Given the description of an element on the screen output the (x, y) to click on. 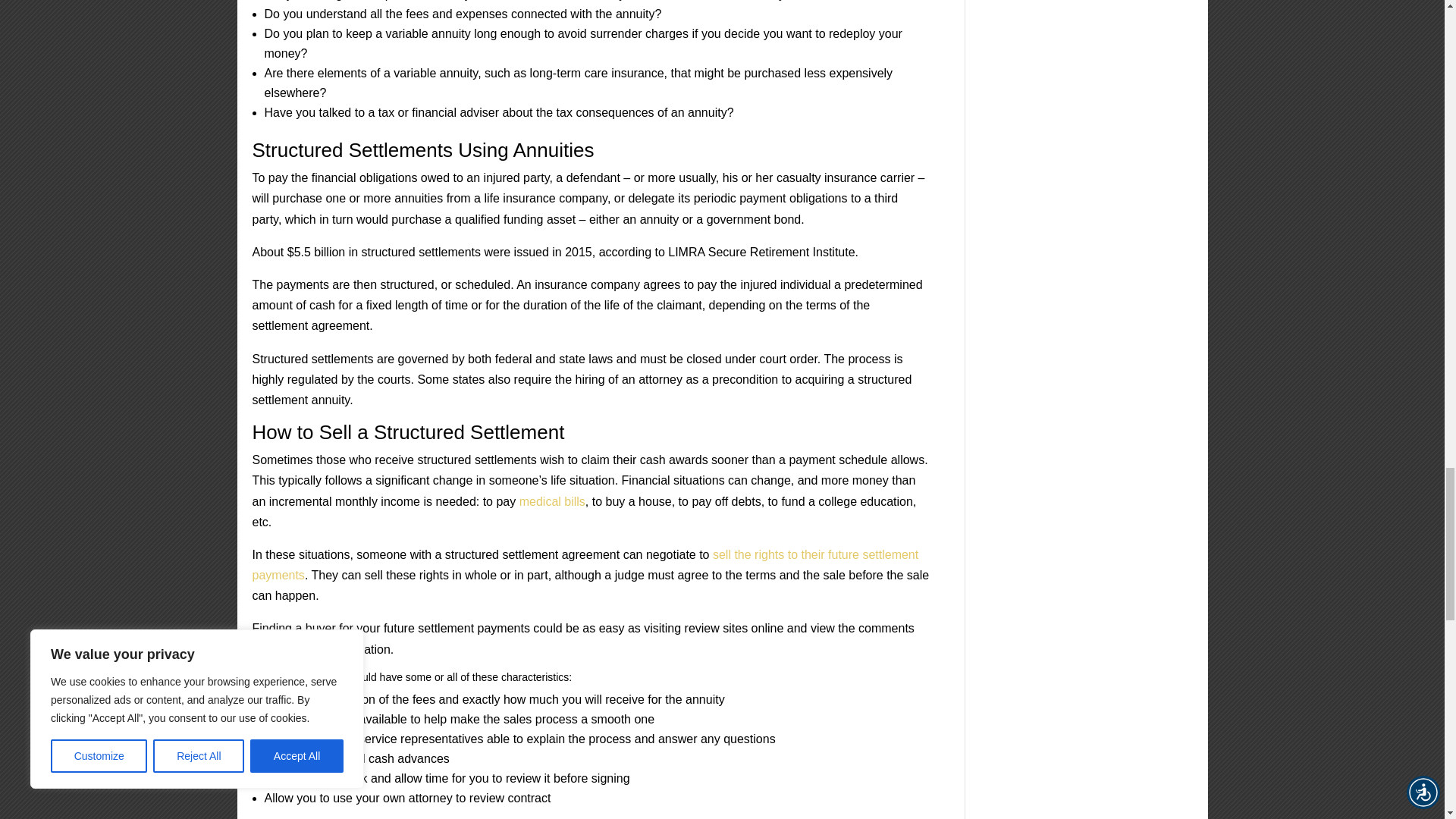
sell the rights to their future settlement payments (584, 564)
medical bills (552, 500)
